Given the description of an element on the screen output the (x, y) to click on. 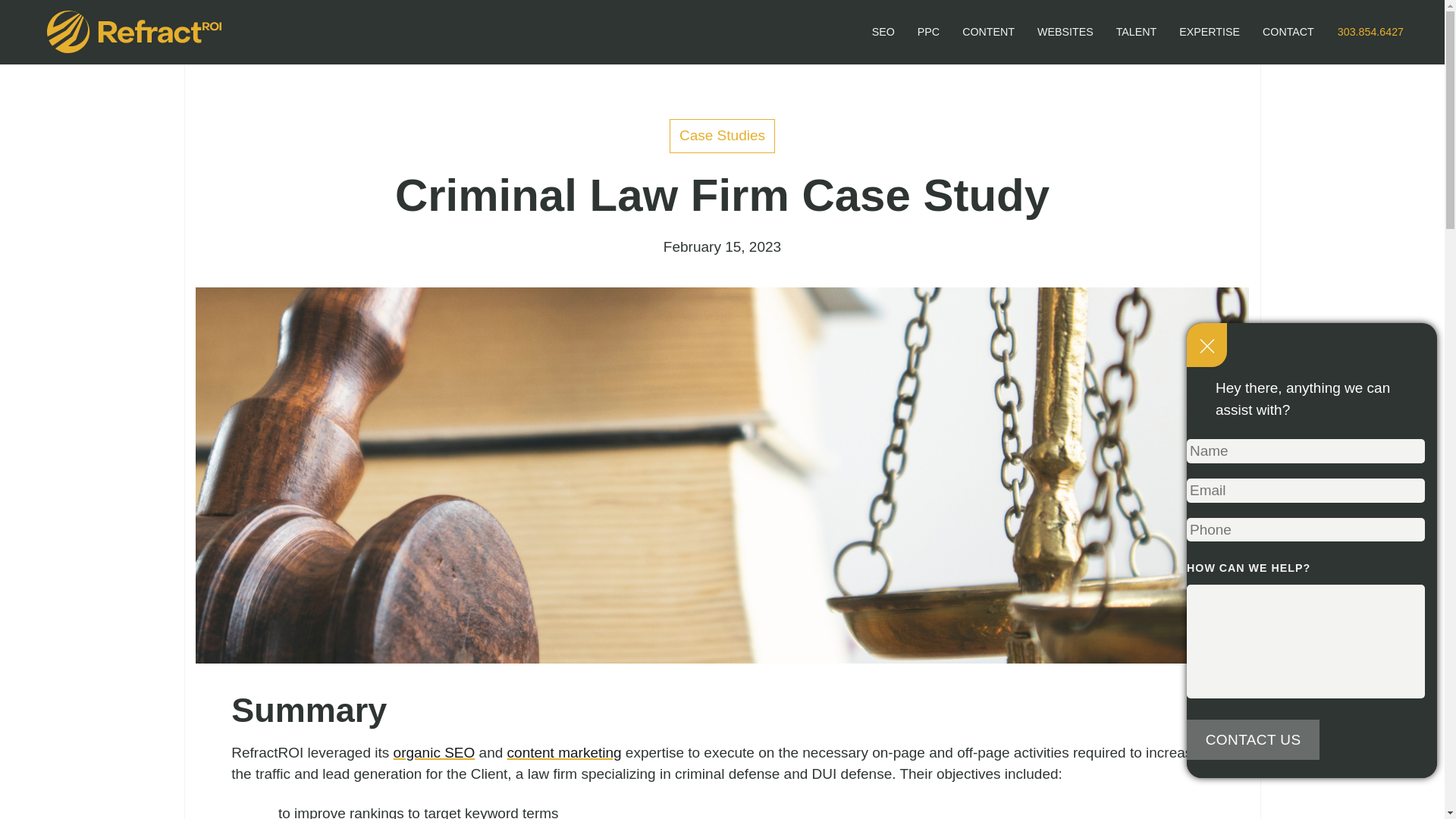
CONTENT (988, 32)
Case Studies (721, 135)
content marketing (563, 752)
EXPERTISE (1208, 32)
WEBSITES (1065, 32)
303.854.6427 (1369, 31)
TALENT (1137, 32)
CONTACT (1287, 32)
organic SEO (777, 32)
SEO (434, 752)
CONTACT US (882, 32)
PPC (1252, 739)
